Given the description of an element on the screen output the (x, y) to click on. 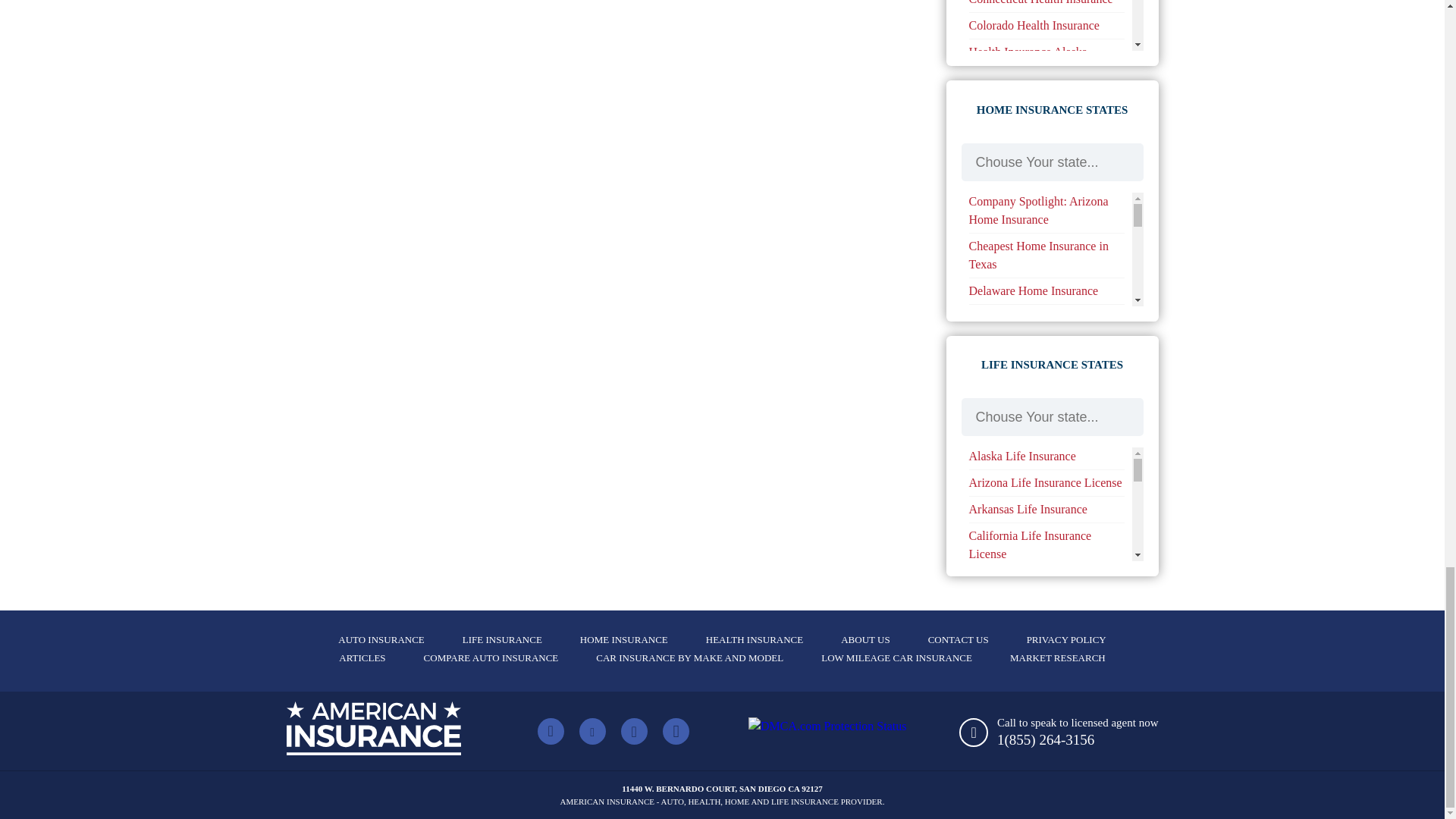
Car Insurance in Maine in 2020 (1045, 45)
Car Insurance Iowa (1016, 19)
Car Insurance Massachusetts (1039, 72)
